Given the description of an element on the screen output the (x, y) to click on. 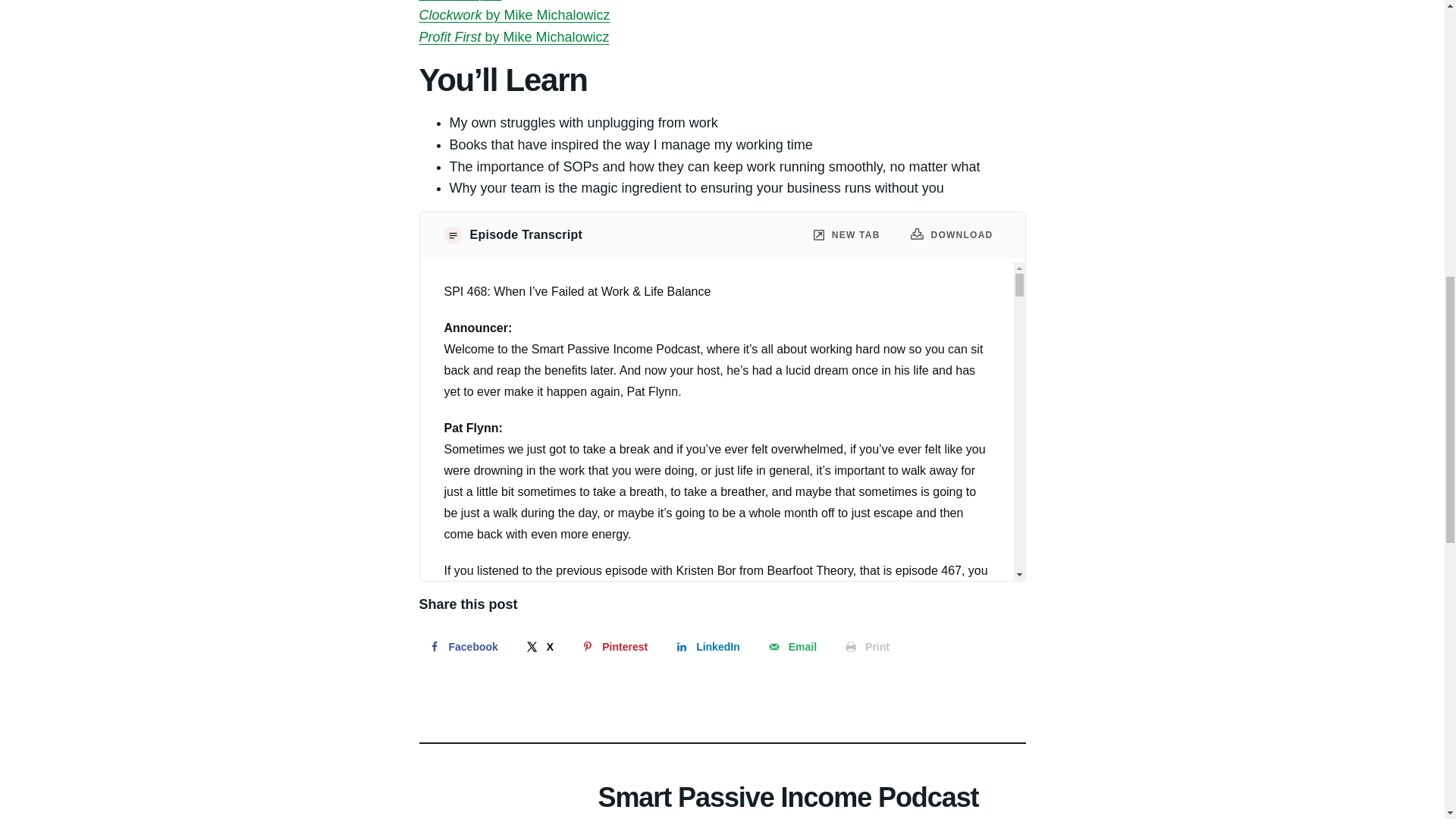
Send over email (791, 646)
Share on LinkedIn (706, 646)
Profit First by Mike Michalowicz (513, 37)
Save to Pinterest (612, 646)
NEW TAB (847, 235)
Print this webpage (865, 646)
Clockwork by Mike Michalowicz (514, 14)
Share on Facebook (461, 646)
DOWNLOAD (951, 234)
